Given the description of an element on the screen output the (x, y) to click on. 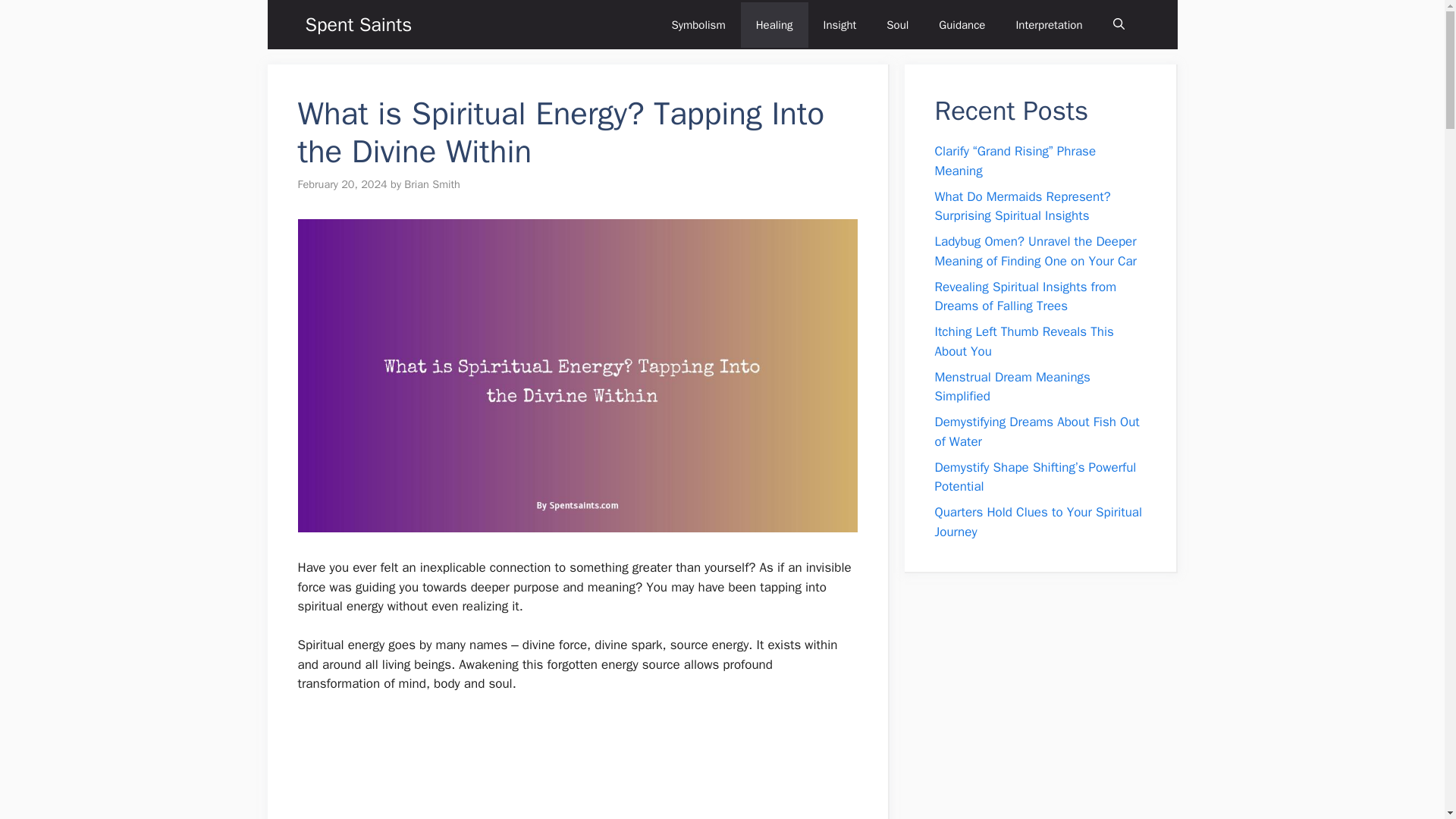
Symbolism (697, 23)
Healing (774, 23)
Revealing Spiritual Insights from Dreams of Falling Trees (1025, 296)
Advertisement (576, 765)
Guidance (961, 23)
What Do Mermaids Represent? Surprising Spiritual Insights (1021, 205)
Soul (896, 23)
Itching Left Thumb Reveals This About You (1023, 341)
Quarters Hold Clues to Your Spiritual Journey (1037, 521)
Spent Saints (358, 24)
Demystifying Dreams About Fish Out of Water (1036, 431)
Interpretation (1048, 23)
Insight (840, 23)
Menstrual Dream Meanings Simplified (1011, 386)
